Given the description of an element on the screen output the (x, y) to click on. 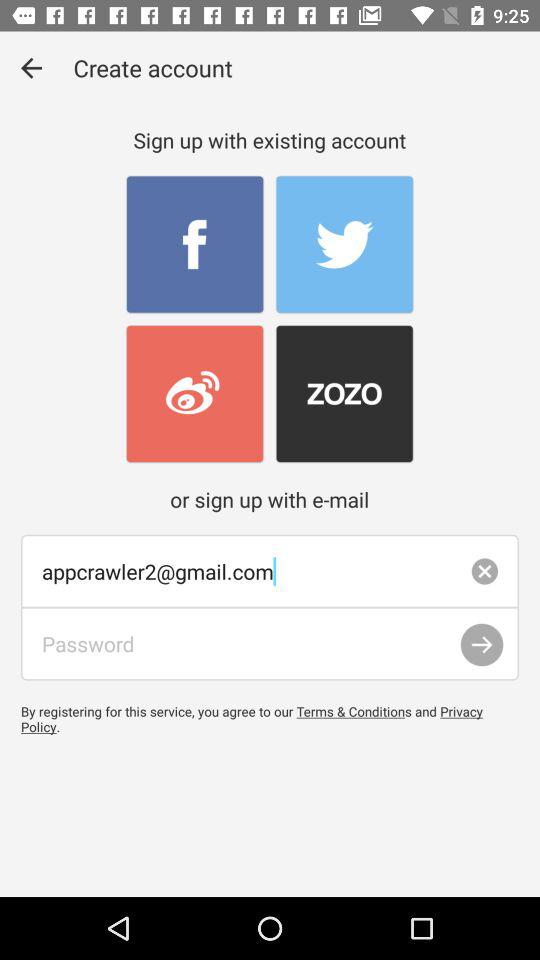
enter text (270, 643)
